Given the description of an element on the screen output the (x, y) to click on. 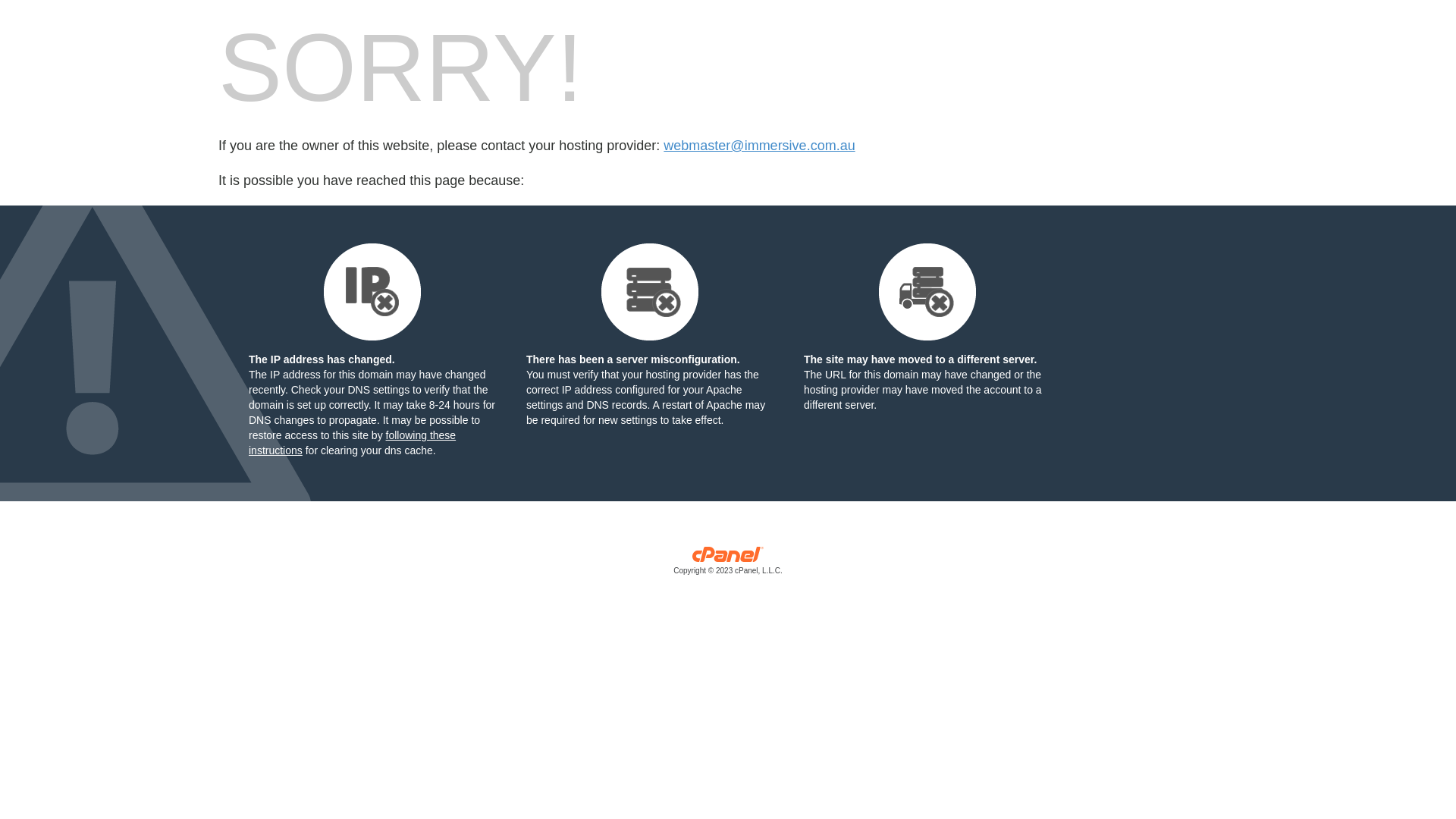
webmaster@immersive.com.au Element type: text (758, 145)
following these instructions Element type: text (351, 442)
